Given the description of an element on the screen output the (x, y) to click on. 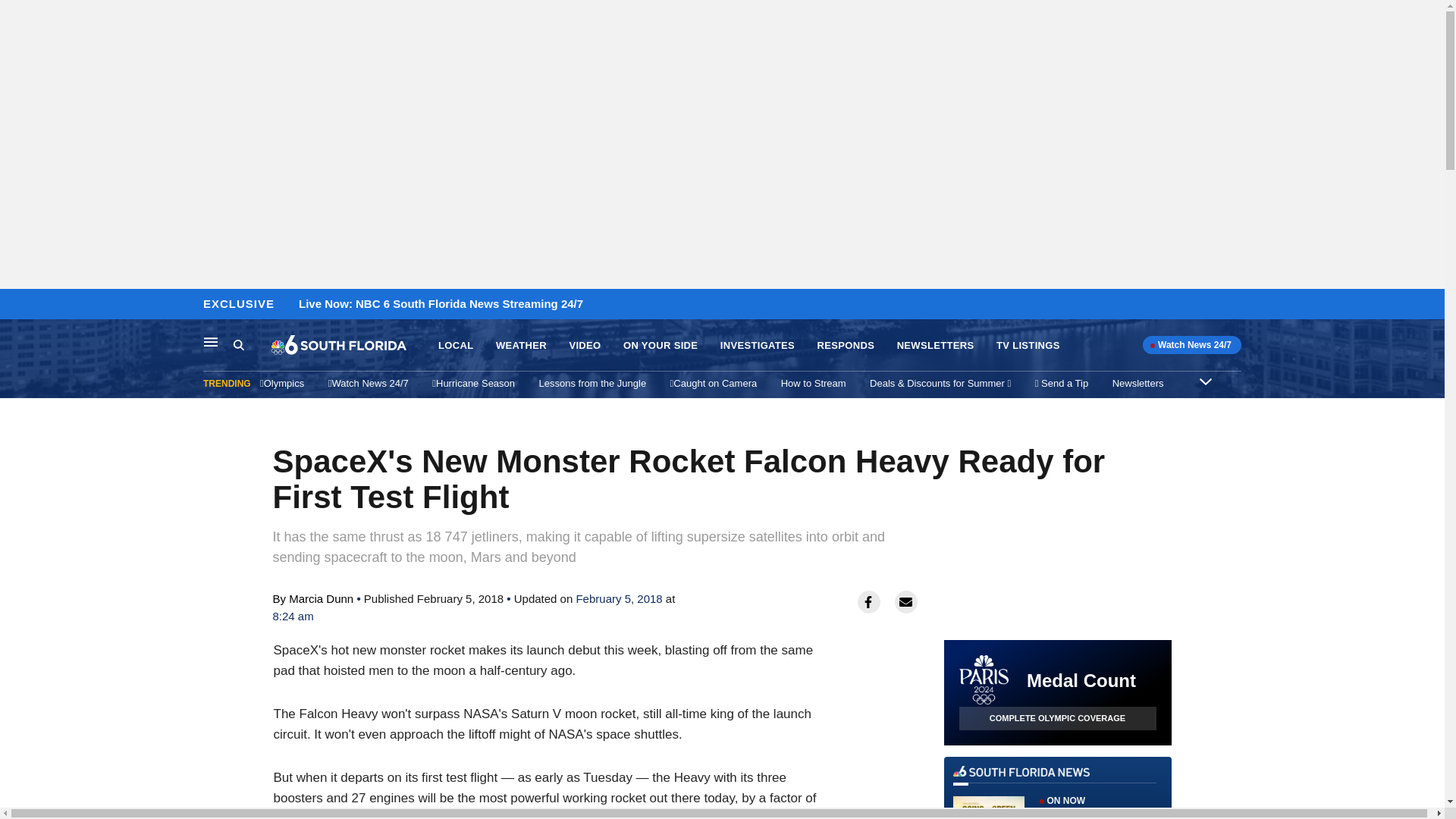
Search (238, 344)
Newsletters (1137, 383)
INVESTIGATES (757, 345)
COMPLETE OLYMPIC COVERAGE (1057, 718)
ON YOUR SIDE (660, 345)
Expand (1205, 381)
Main Navigation (1056, 792)
RESPONDS (210, 341)
How to Stream (845, 345)
Search (812, 383)
LOCAL (252, 345)
VIDEO (455, 345)
Lessons from the Jungle (584, 345)
NEWSLETTERS (592, 383)
